Given the description of an element on the screen output the (x, y) to click on. 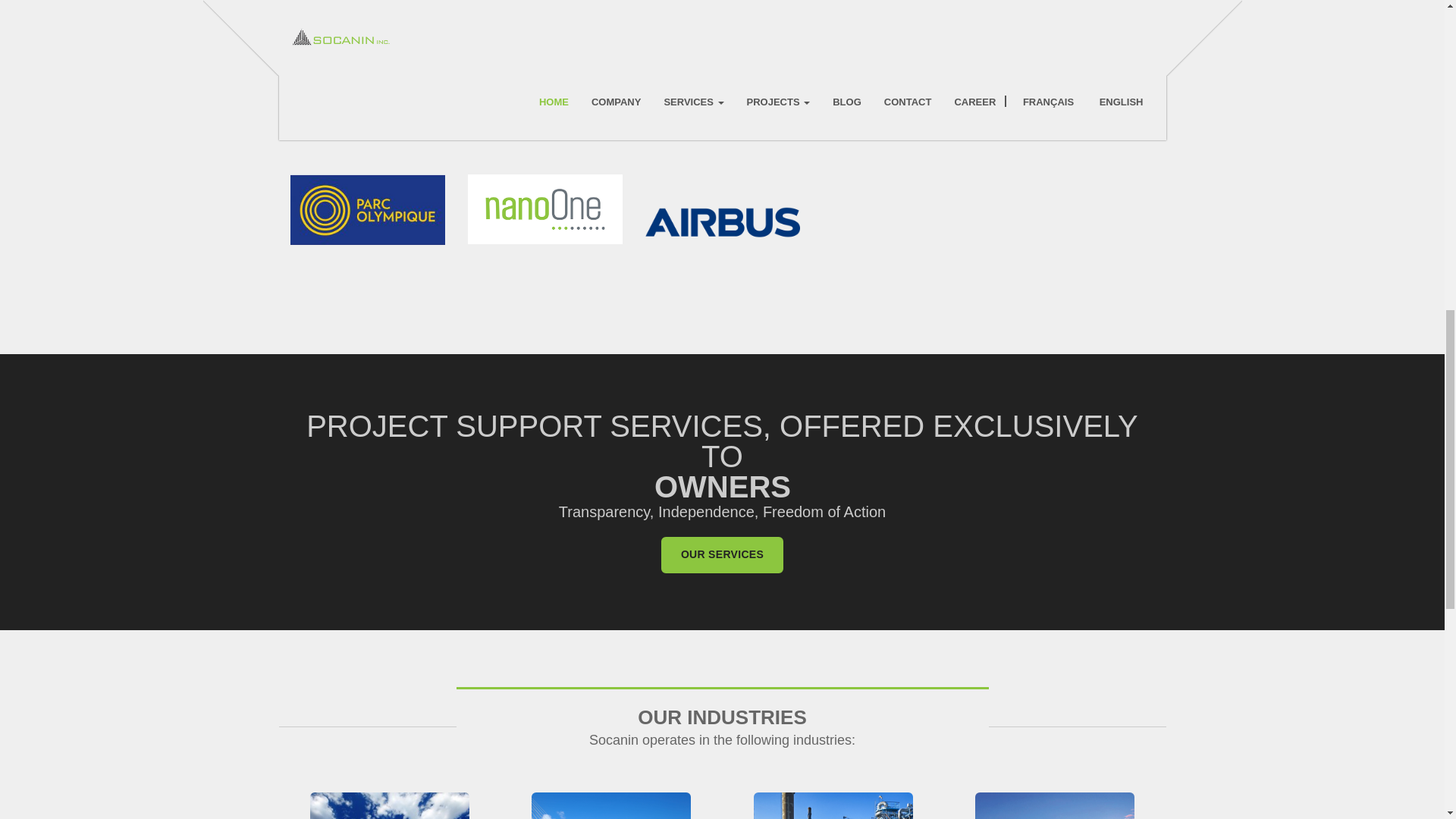
ENERGY (389, 805)
OUR SERVICES (722, 555)
Our Services (722, 555)
